Given the description of an element on the screen output the (x, y) to click on. 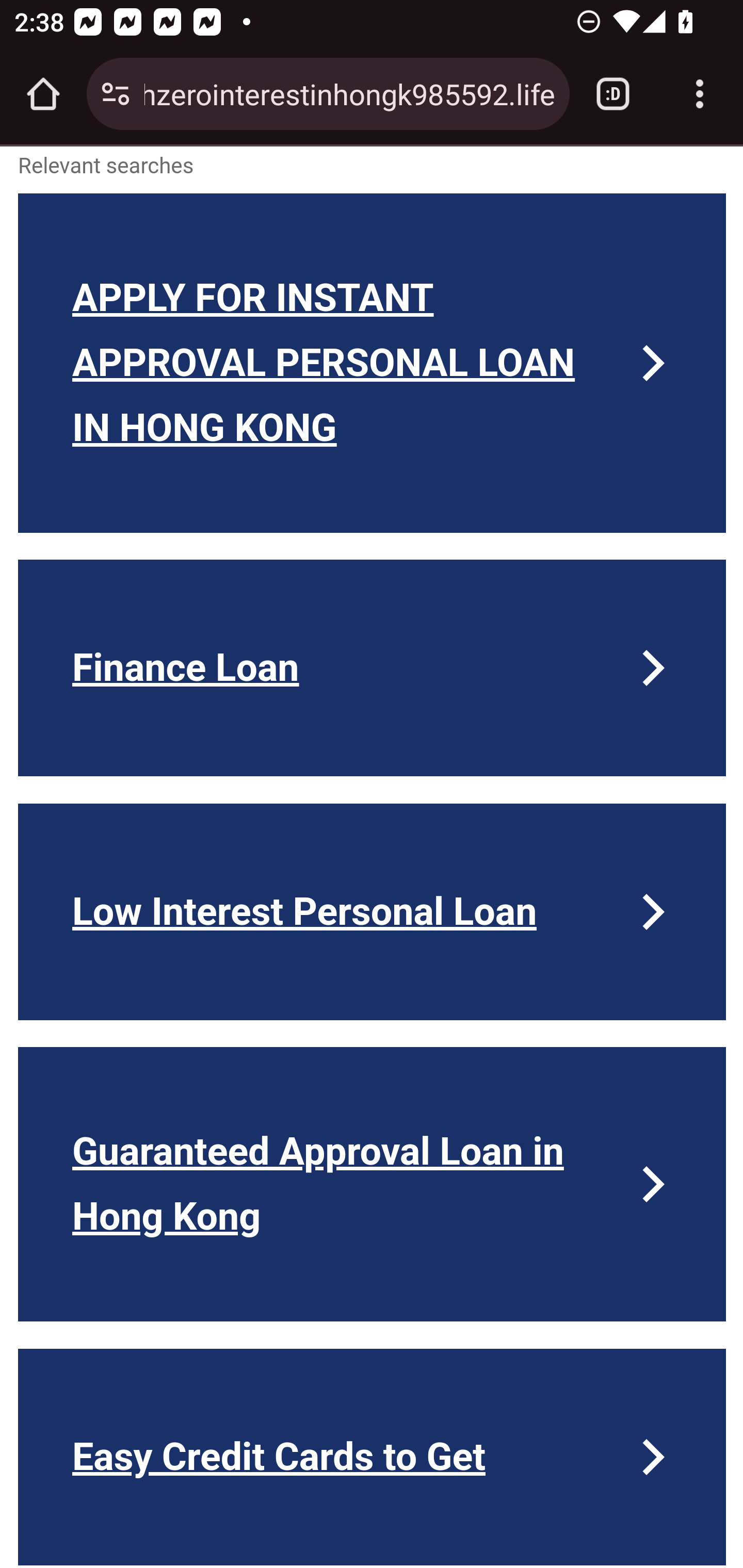
Open the home page (43, 93)
Connection is secure (115, 93)
Switch or close tabs (612, 93)
Customize and control Google Chrome (699, 93)
Finance Loan (372, 668)
Low Interest Personal Loan (372, 911)
Guaranteed Approval Loan in Hong Kong (372, 1184)
Easy Credit Cards to Get (372, 1456)
